Given the description of an element on the screen output the (x, y) to click on. 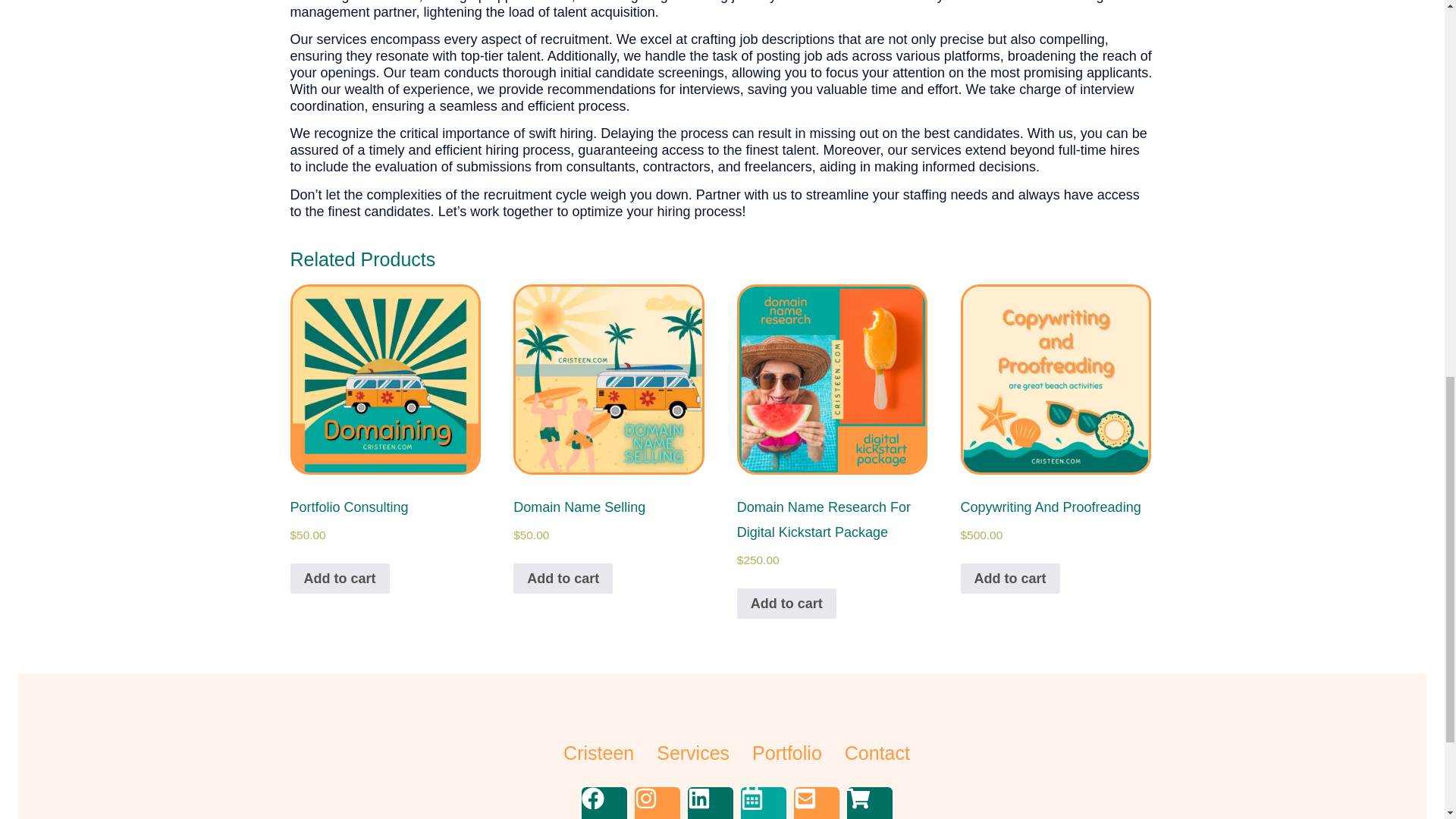
Services (692, 752)
Portfolio (787, 752)
Add to cart (785, 603)
Contact (877, 752)
Add to cart (562, 578)
Add to cart (1009, 578)
Add to cart (338, 578)
Cristeen (598, 752)
